Given the description of an element on the screen output the (x, y) to click on. 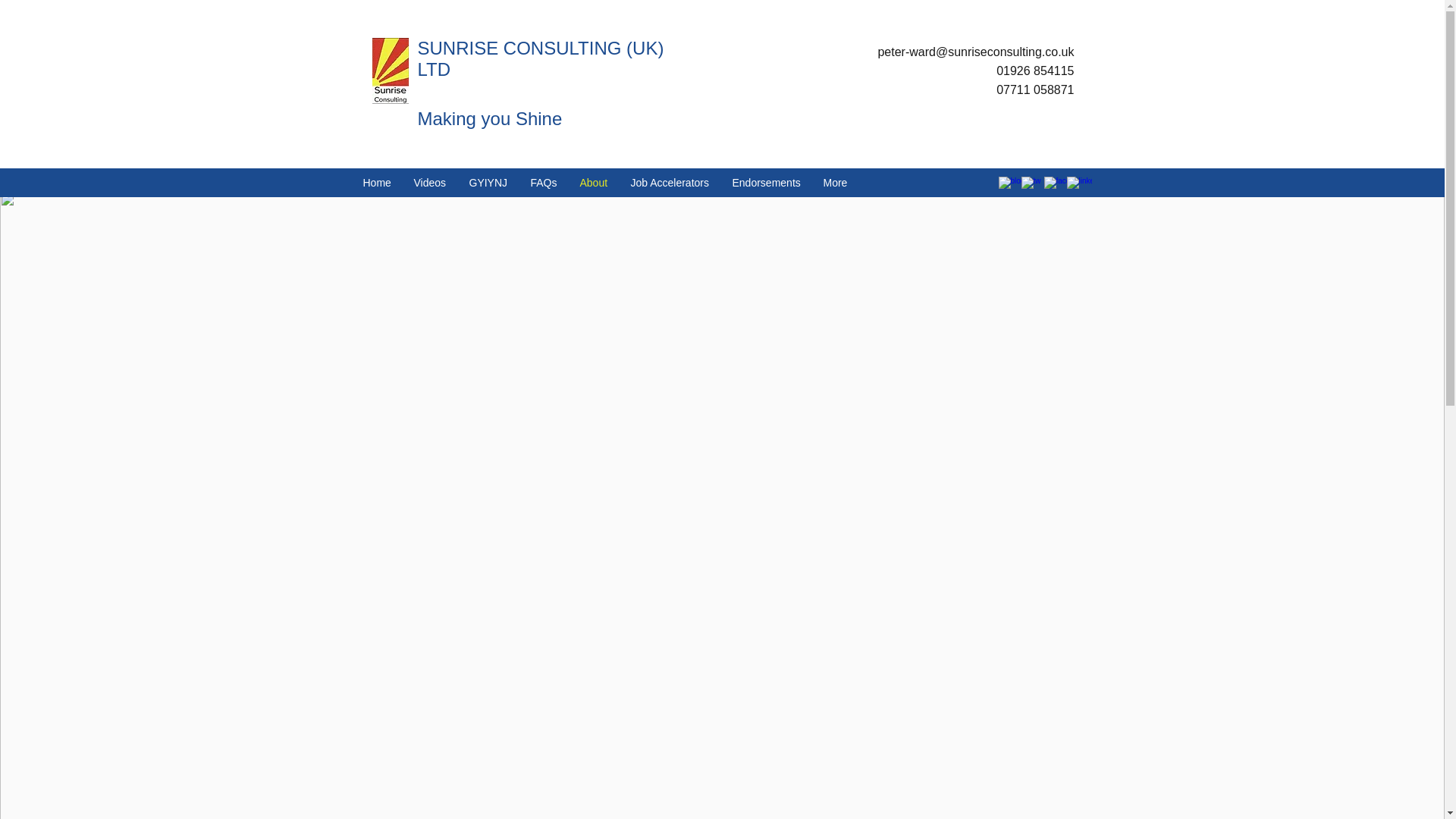
FAQs (542, 182)
About (594, 182)
Endorsements (765, 182)
Videos (429, 182)
Home (377, 182)
Job Accelerators (669, 182)
GYIYNJ (488, 182)
